Given the description of an element on the screen output the (x, y) to click on. 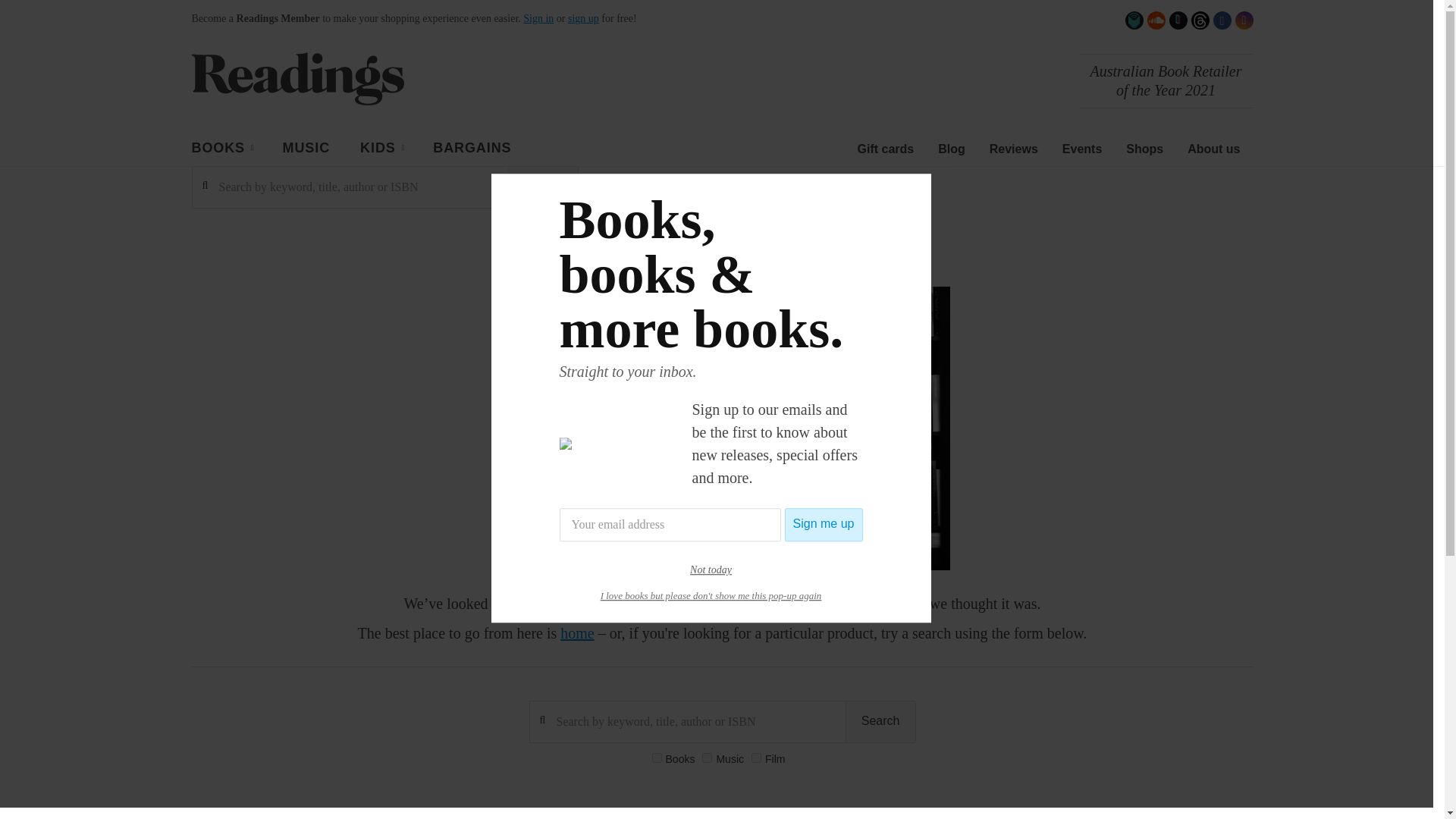
1 (756, 757)
MUSIC (306, 149)
Sign me up (823, 524)
KIDS (381, 150)
Readings (297, 78)
sign up (582, 18)
1 (706, 757)
Not today (711, 570)
1 (657, 757)
I love books but please don't show me this pop-up again (710, 595)
Sign in (537, 18)
BOOKS (221, 150)
